Given the description of an element on the screen output the (x, y) to click on. 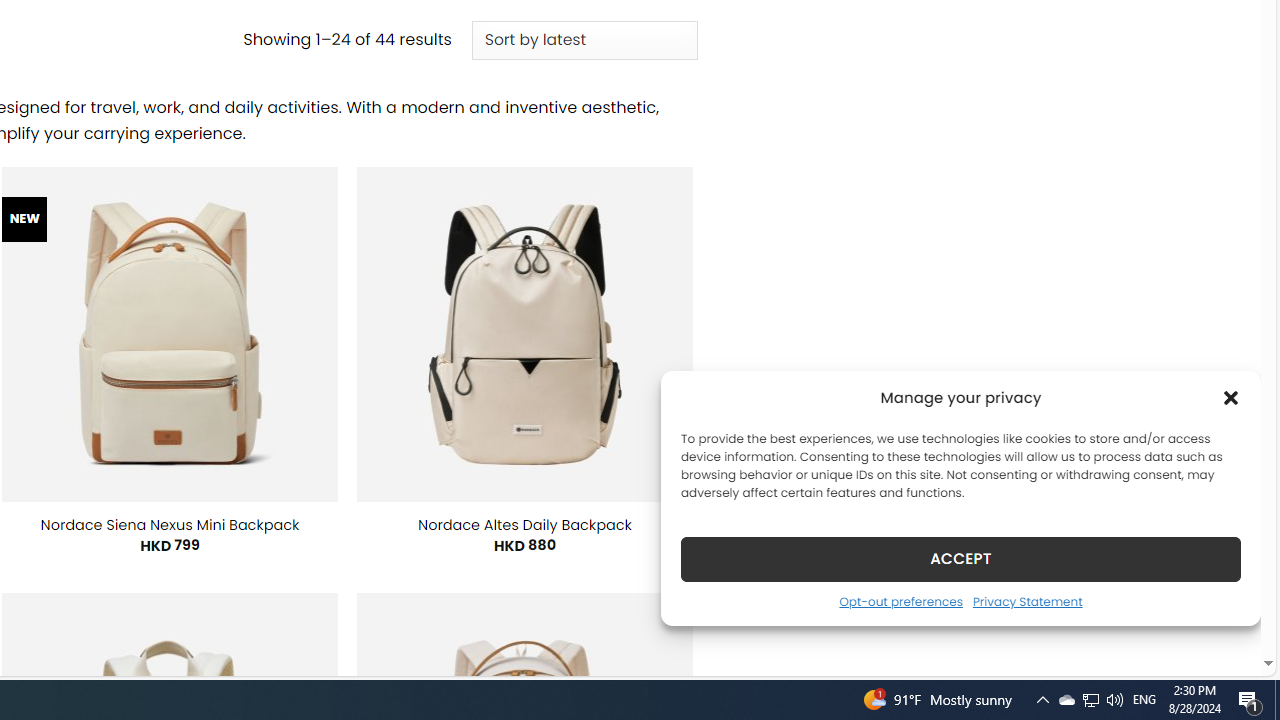
Class: cmplz-close (1231, 397)
Shop order (584, 40)
Opt-out preferences (900, 601)
ACCEPT (960, 558)
Nordace Altes Daily Backpack (525, 524)
Nordace Siena Nexus Mini Backpack (169, 524)
Privacy Statement (1026, 601)
